Given the description of an element on the screen output the (x, y) to click on. 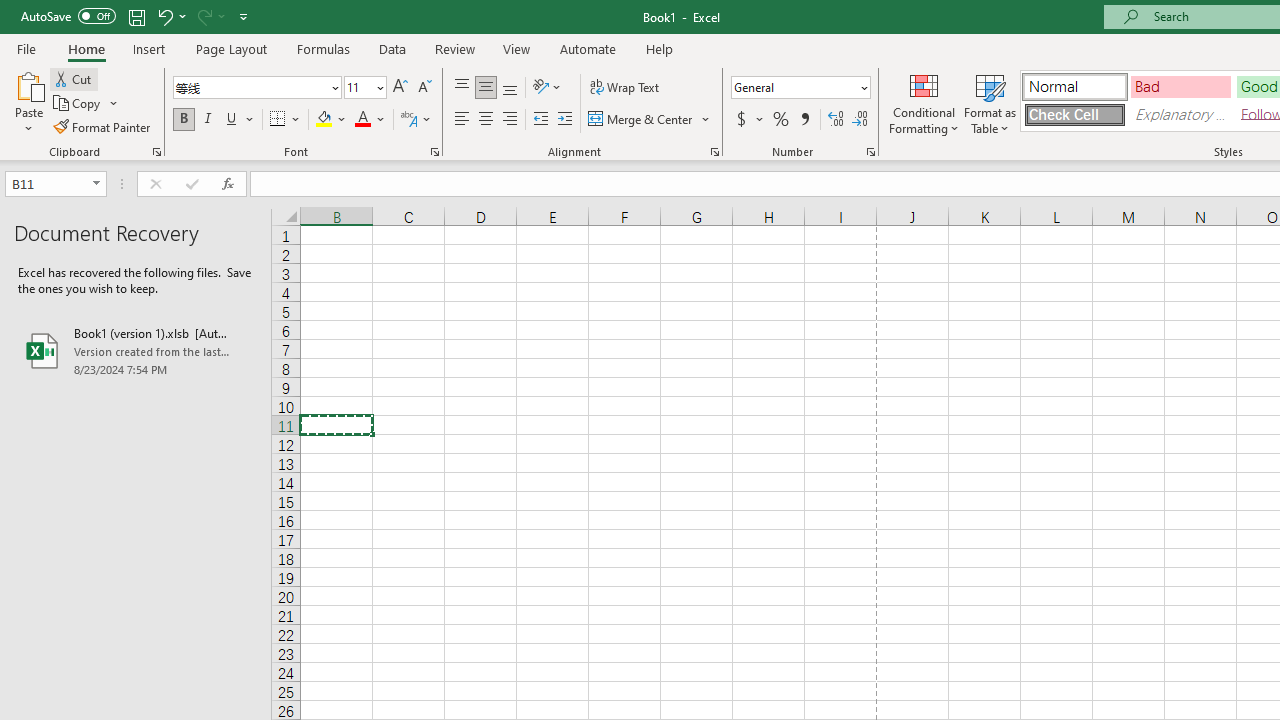
Bottom Align (509, 87)
Bad (1180, 86)
Number Format (794, 87)
Format Cell Number (870, 151)
Explanatory Text (1180, 114)
Paste (28, 84)
Cut (73, 78)
Copy (78, 103)
Conditional Formatting (924, 102)
Show Phonetic Field (408, 119)
